Given the description of an element on the screen output the (x, y) to click on. 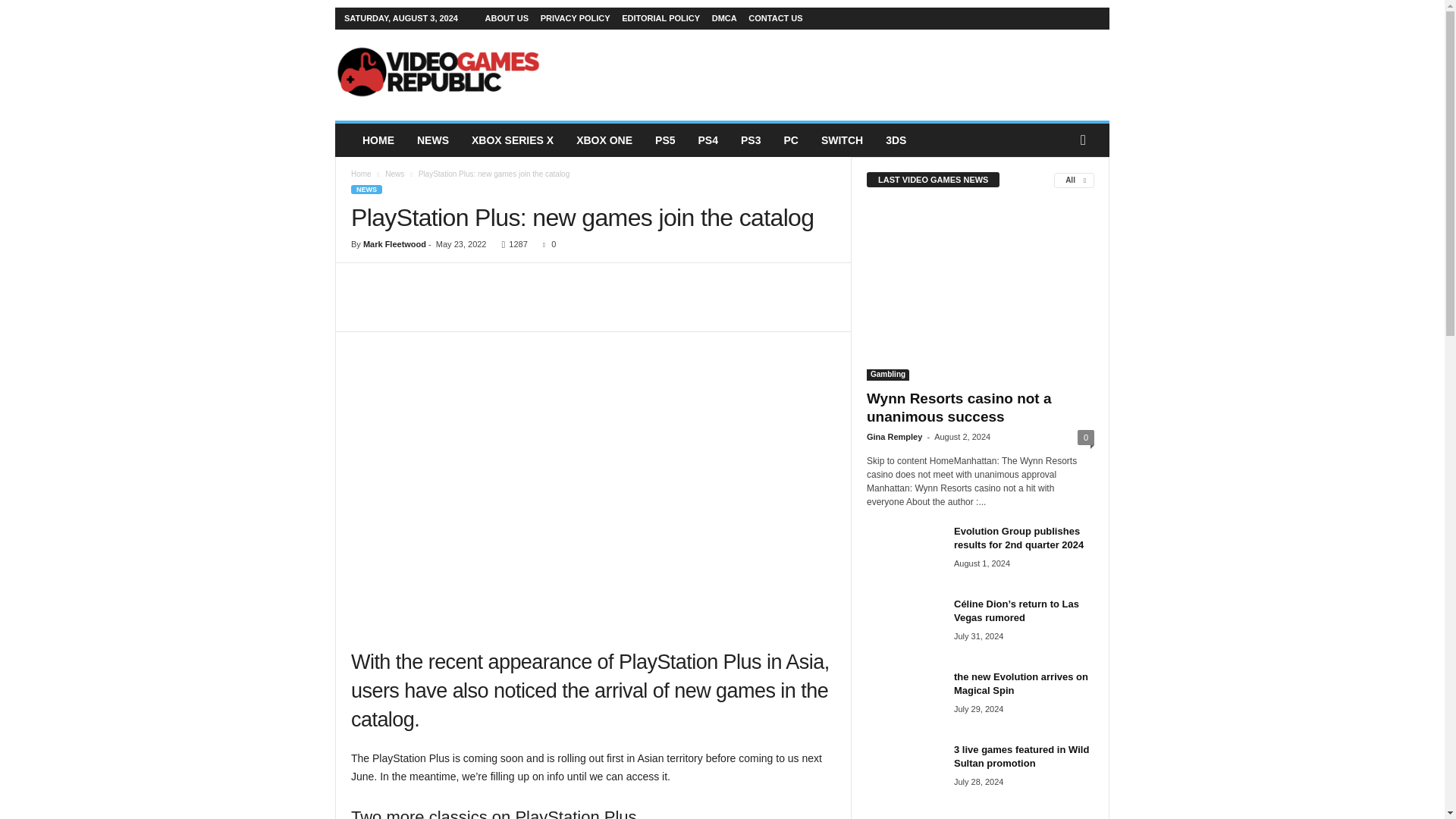
CONTACT US (775, 17)
HOME (378, 140)
NEWS (433, 140)
PRIVACY POLICY (575, 17)
ABOUT US (506, 17)
DMCA (723, 17)
EDITORIAL POLICY (660, 17)
VideoGamesRepublic.com (437, 70)
